Given the description of an element on the screen output the (x, y) to click on. 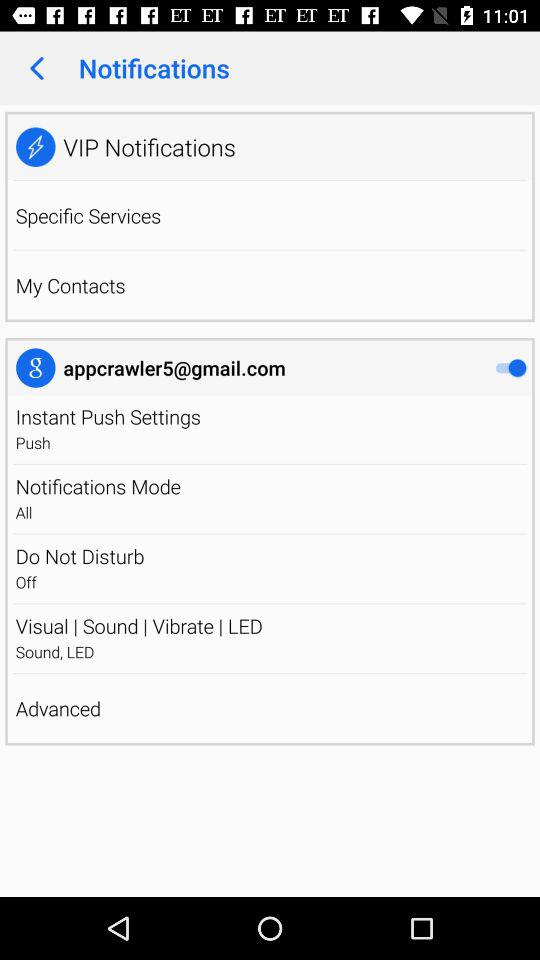
click icon to the left of the vip notifications icon (35, 146)
